Given the description of an element on the screen output the (x, y) to click on. 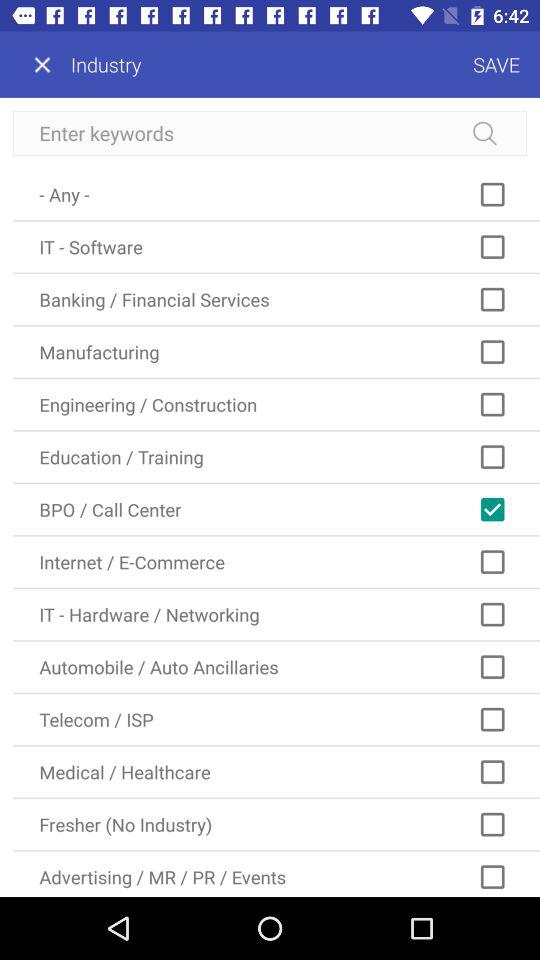
enter keyword and search (269, 133)
